Given the description of an element on the screen output the (x, y) to click on. 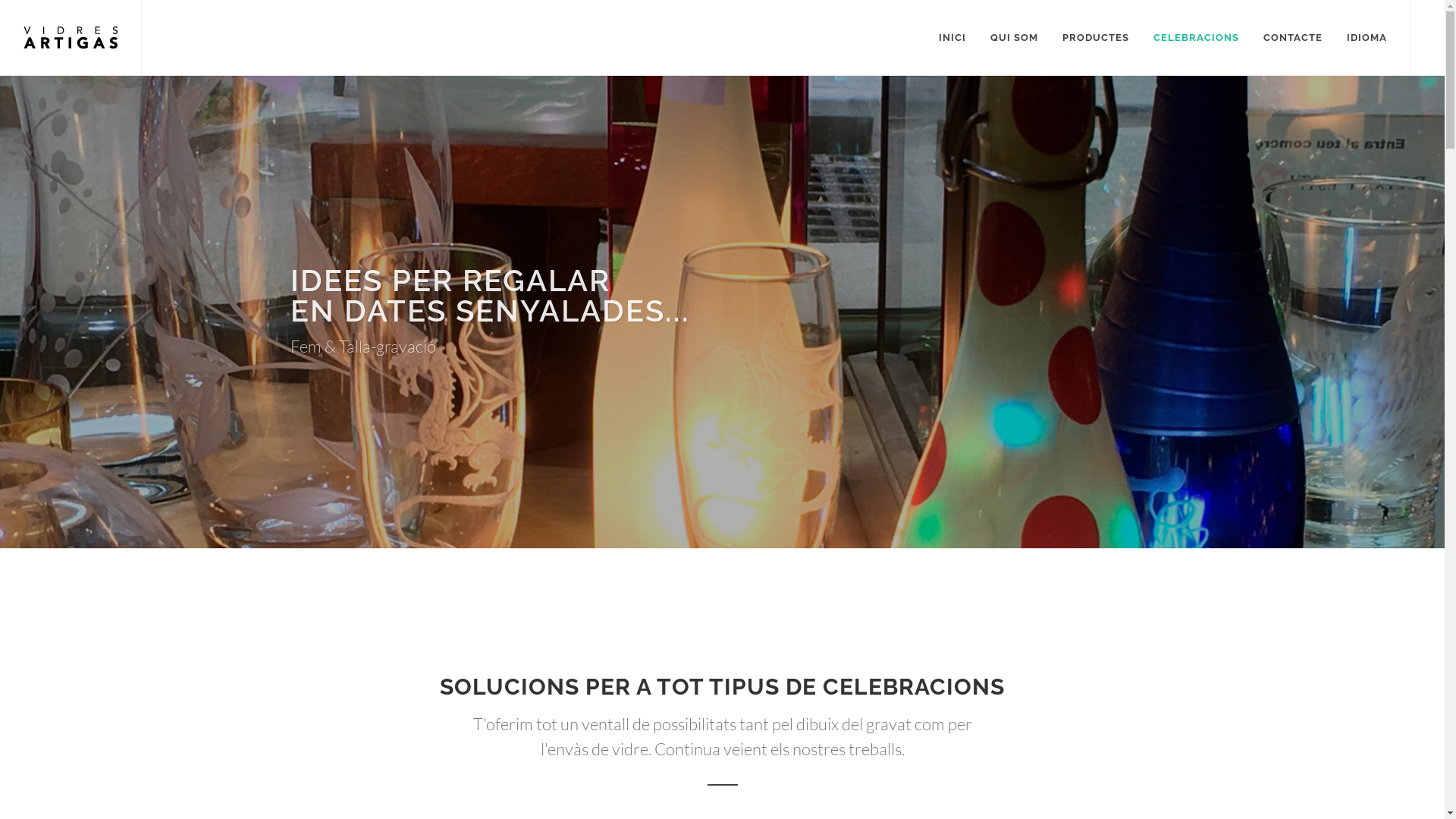
QUI SOM Element type: text (1014, 37)
PRODUCTES Element type: text (1095, 37)
CONTACTE Element type: text (1292, 37)
CELEBRACIONS Element type: text (1196, 37)
IDIOMA Element type: text (1366, 37)
INICI Element type: text (952, 37)
